Given the description of an element on the screen output the (x, y) to click on. 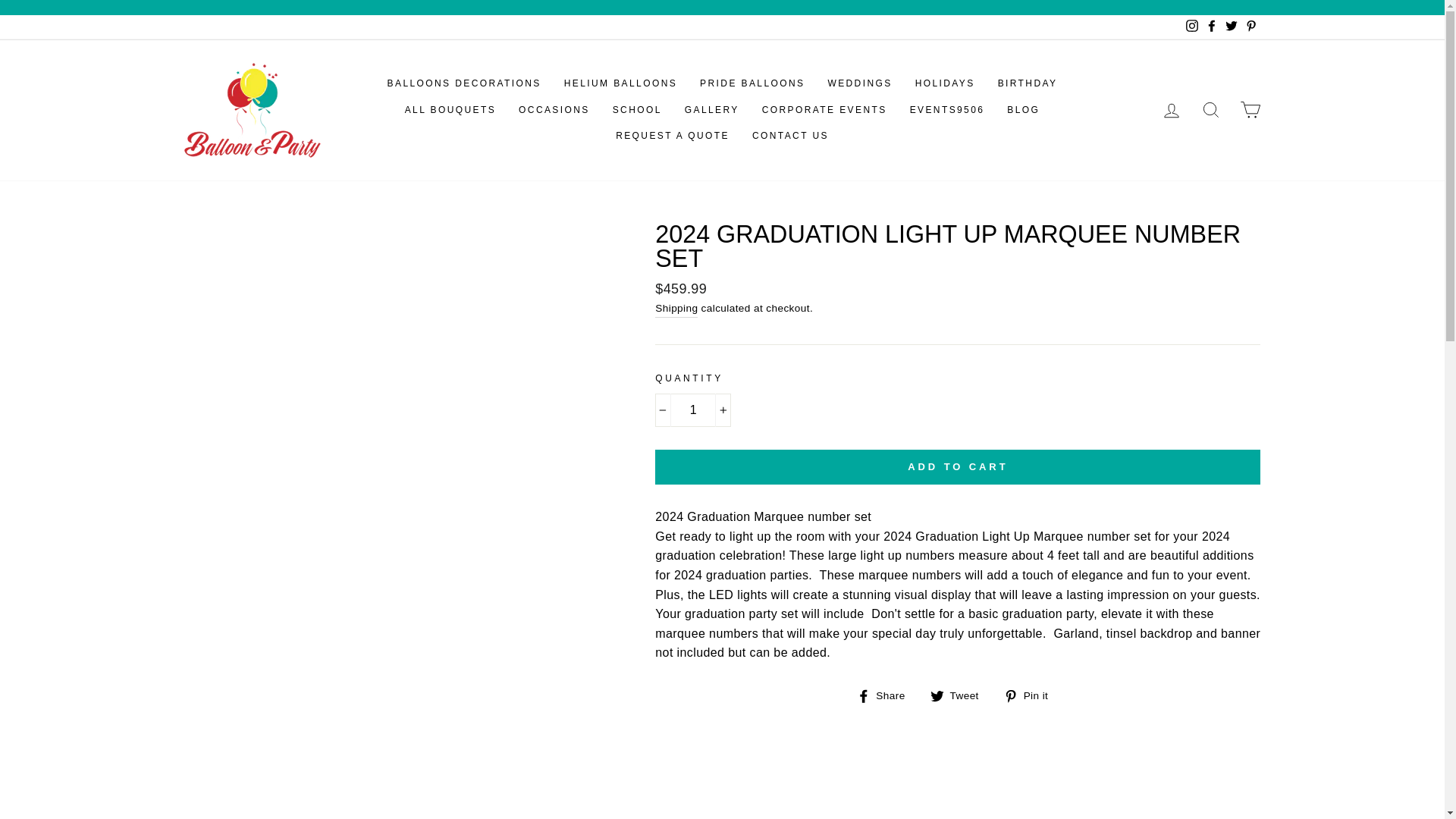
Tweet on Twitter (960, 695)
1 (692, 409)
Pin on Pinterest (1031, 695)
Share on Facebook (887, 695)
